Given the description of an element on the screen output the (x, y) to click on. 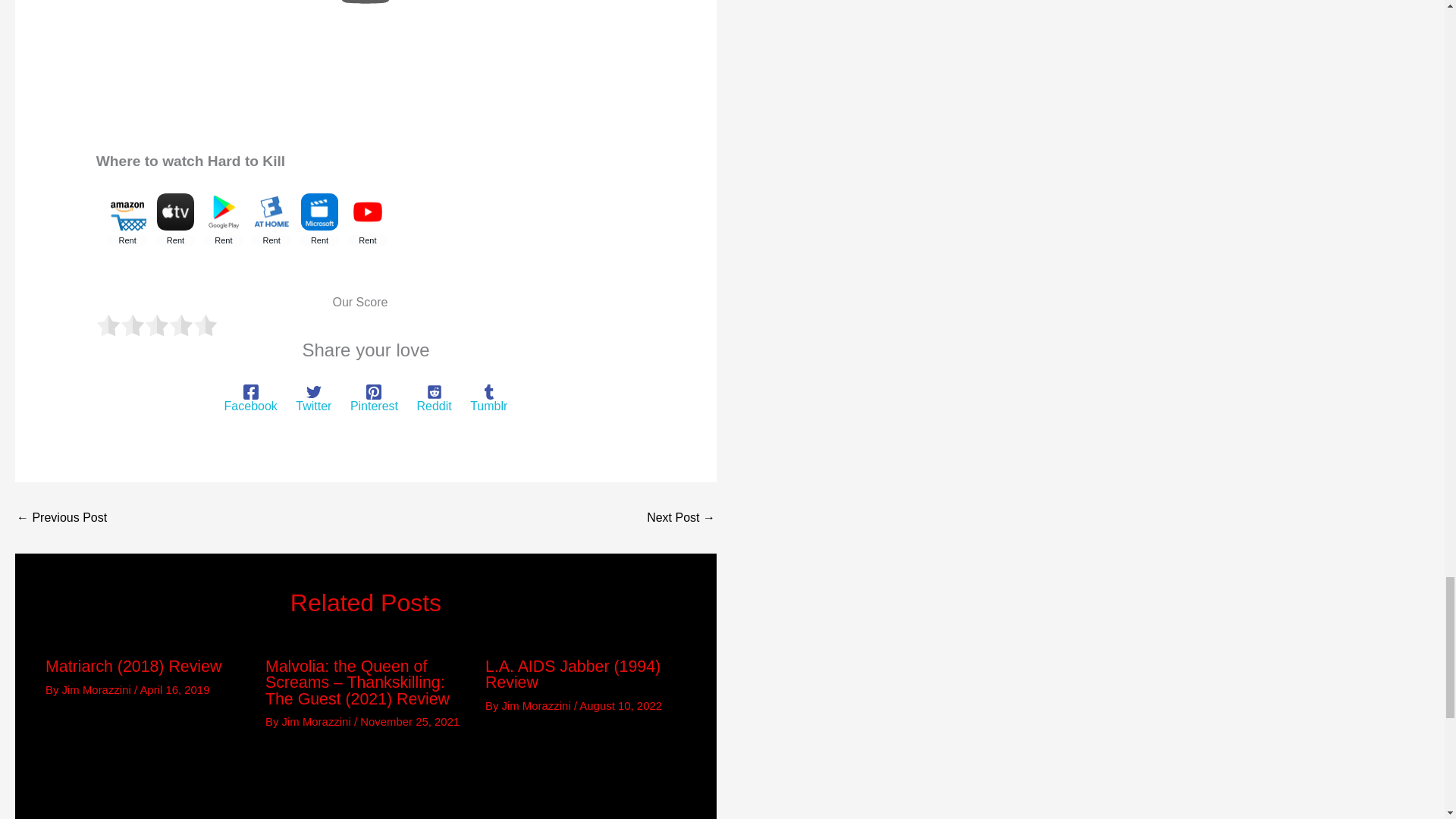
Reddit (433, 398)
Twitter (313, 398)
Powered by JustWatch (145, 272)
Pinterest (373, 398)
Jim Morazzini (317, 721)
View all posts by Jim Morazzini (537, 705)
Tumblr (488, 398)
View all posts by Jim Morazzini (97, 689)
View all posts by Jim Morazzini (317, 721)
Jim Morazzini (97, 689)
